Given the description of an element on the screen output the (x, y) to click on. 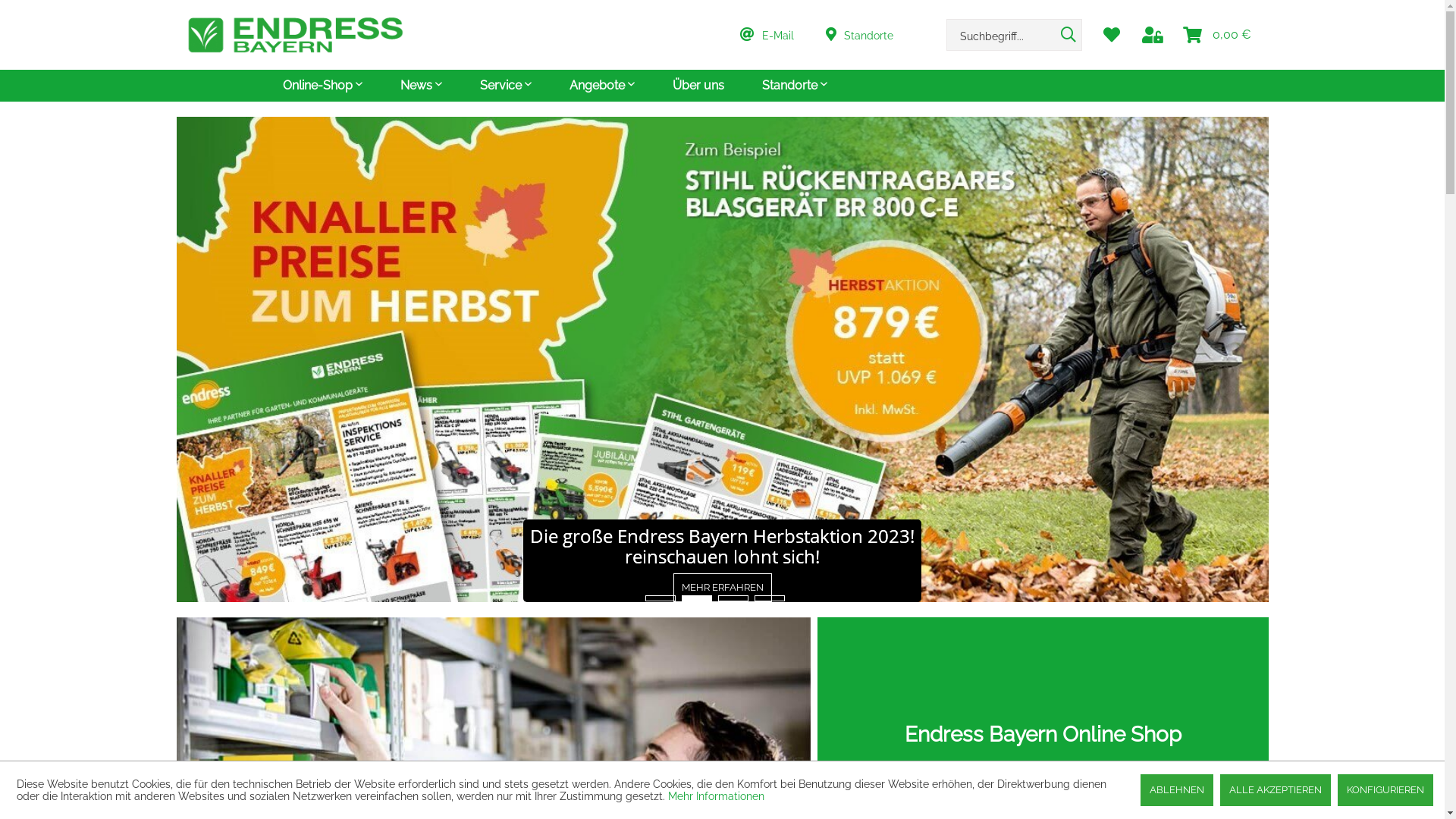
ALLE AKZEPTIEREN Element type: text (1275, 790)
Mein Konto Element type: hover (1152, 34)
Online-Shop Element type: text (321, 85)
Background Element type: hover (710, 561)
MEHR ERFAHREN Element type: text (1222, 583)
Standorte Element type: text (867, 35)
Mehr Informationen Element type: text (716, 796)
E-Mail Element type: text (777, 35)
Service Element type: text (504, 85)
MEHR ERFAHREN Element type: text (369, 582)
ABLEHNEN Element type: text (1176, 790)
News Element type: text (420, 85)
Angebote Element type: text (601, 85)
Standorte Element type: text (793, 85)
KONFIGURIEREN Element type: text (1385, 790)
